Given the description of an element on the screen output the (x, y) to click on. 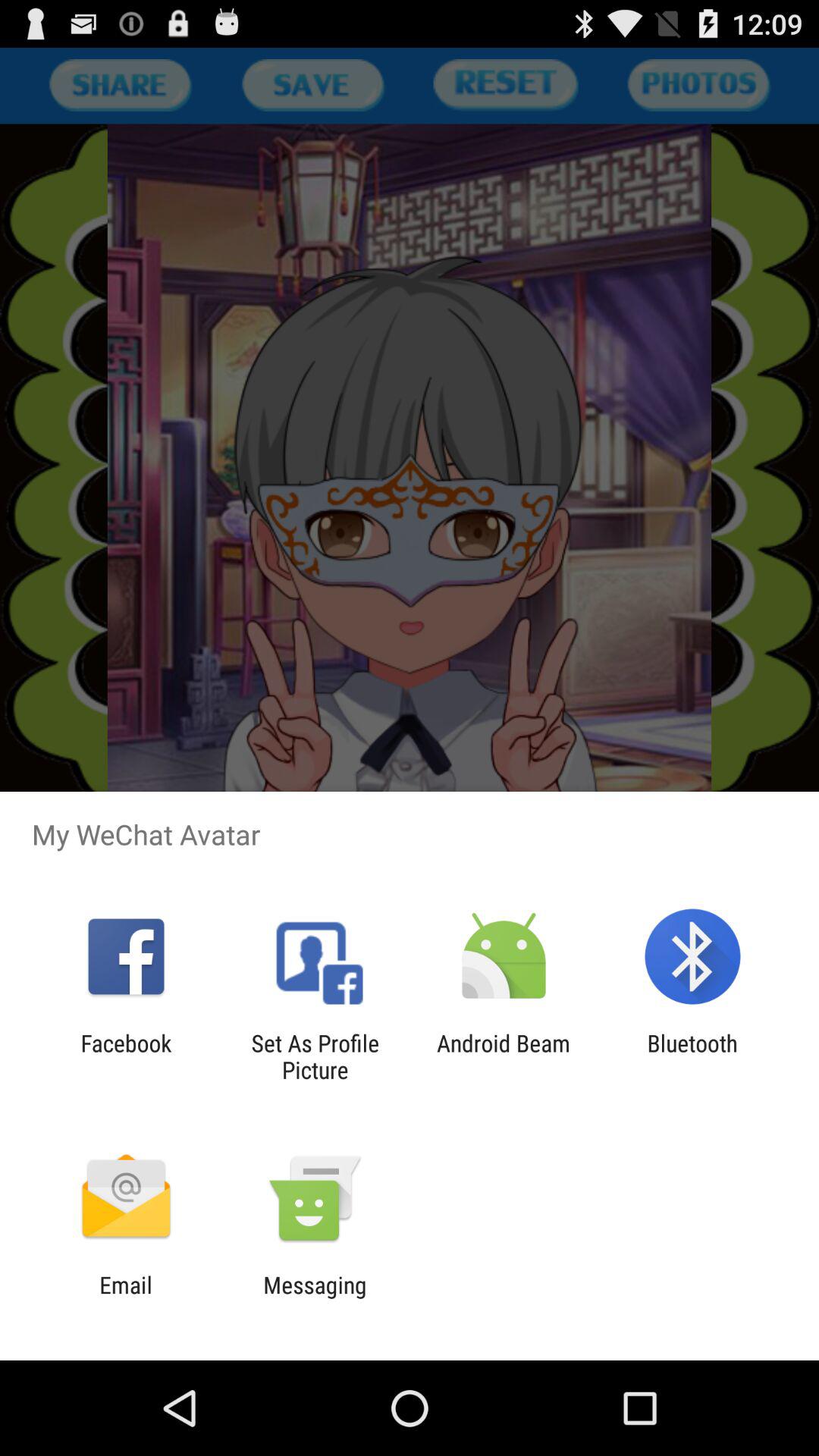
scroll to set as profile app (314, 1056)
